Given the description of an element on the screen output the (x, y) to click on. 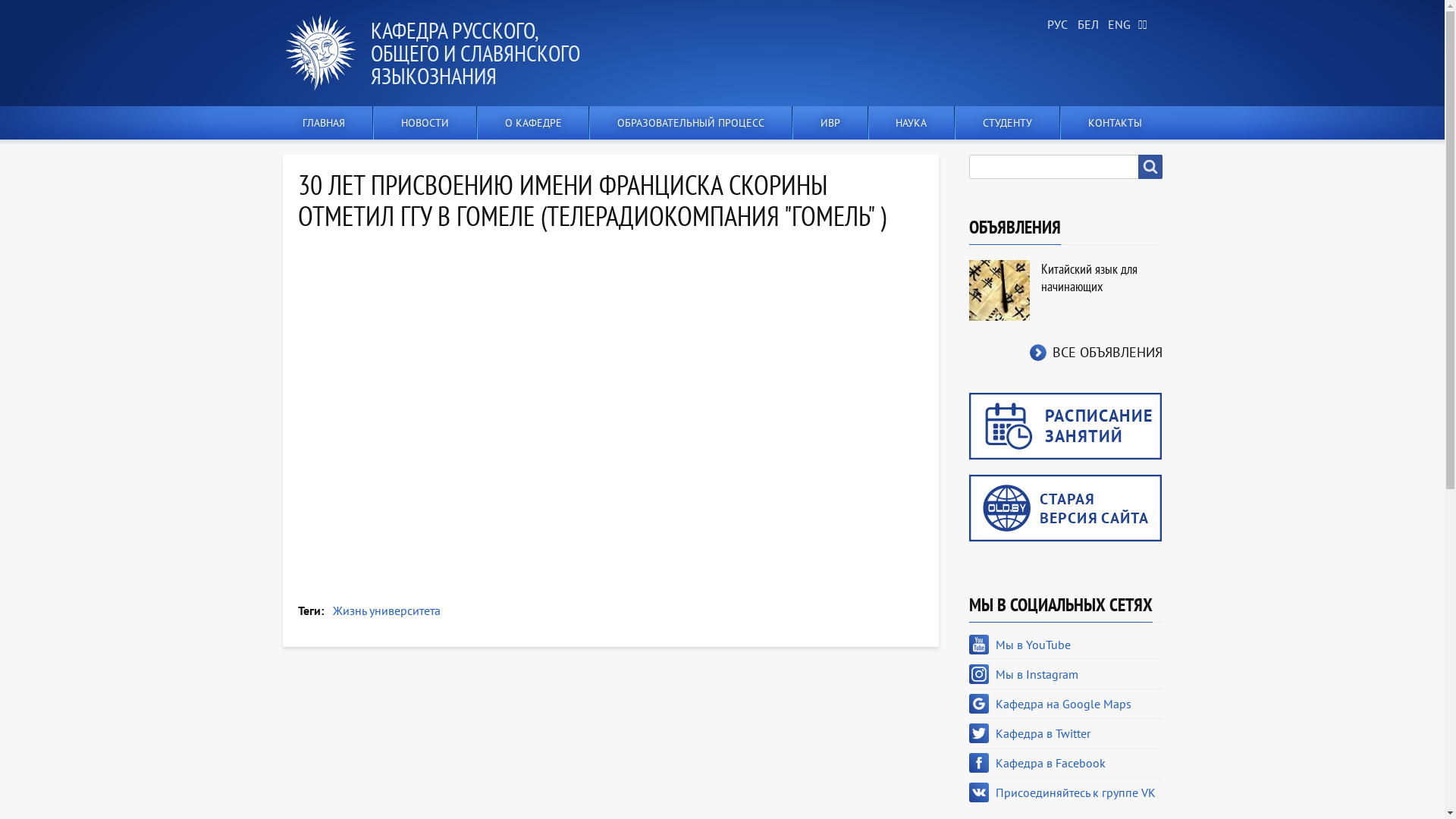
Search Element type: text (1149, 166)
English Element type: text (1116, 24)
Belarusian Element type: text (1085, 24)
Chinese, Traditional Element type: text (1146, 24)
Russian Element type: text (1055, 24)
